Given the description of an element on the screen output the (x, y) to click on. 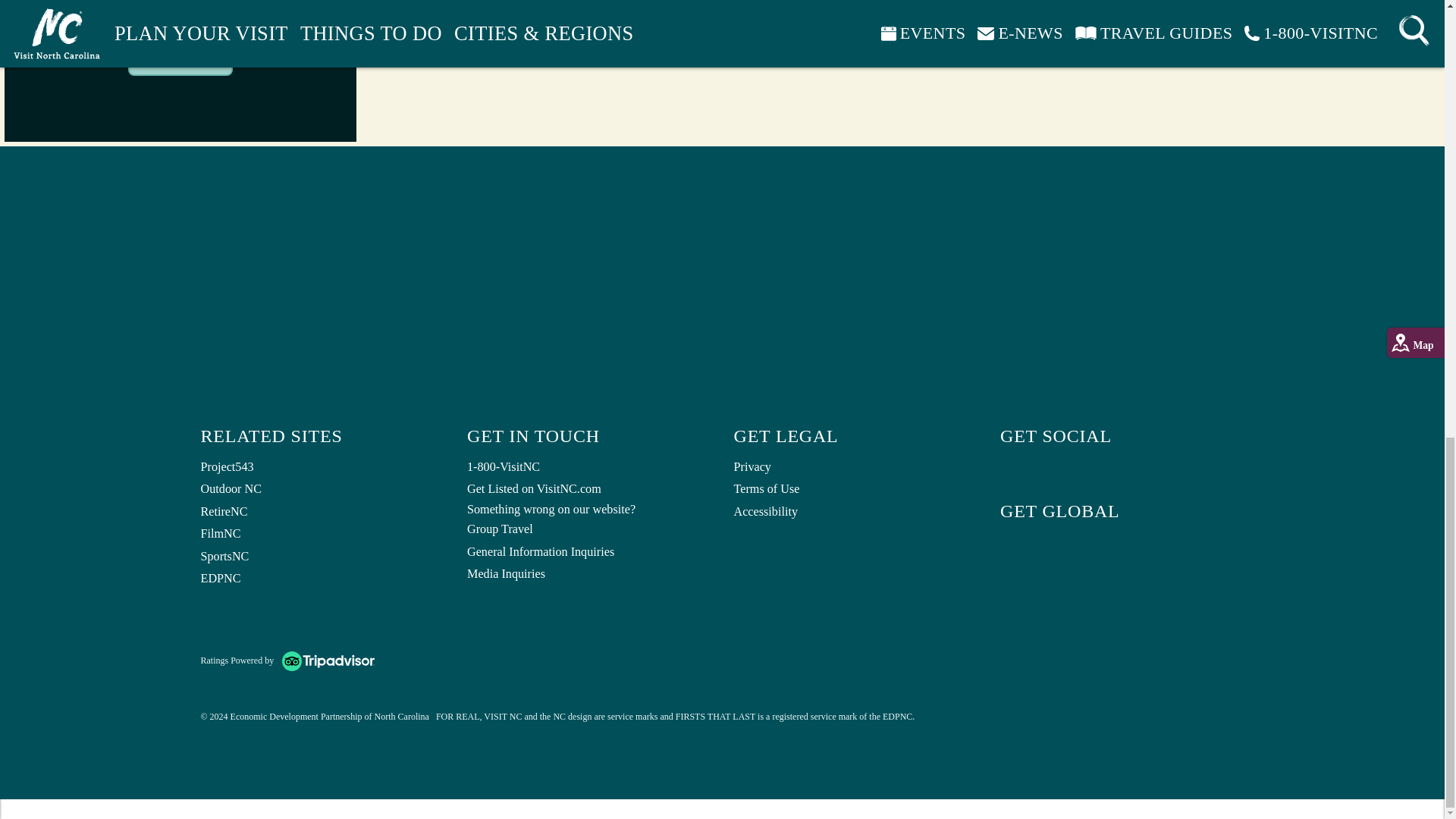
FilmNC (322, 534)
Group Travel (589, 529)
Privacy (855, 467)
Something wrong on our website? (589, 509)
RetireNC (322, 512)
Project543 (322, 467)
General Information Inquiries (589, 551)
Get Listed on VisitNC.com (589, 489)
1-800-VisitNC (589, 467)
Outdoor NC (322, 489)
